Given the description of an element on the screen output the (x, y) to click on. 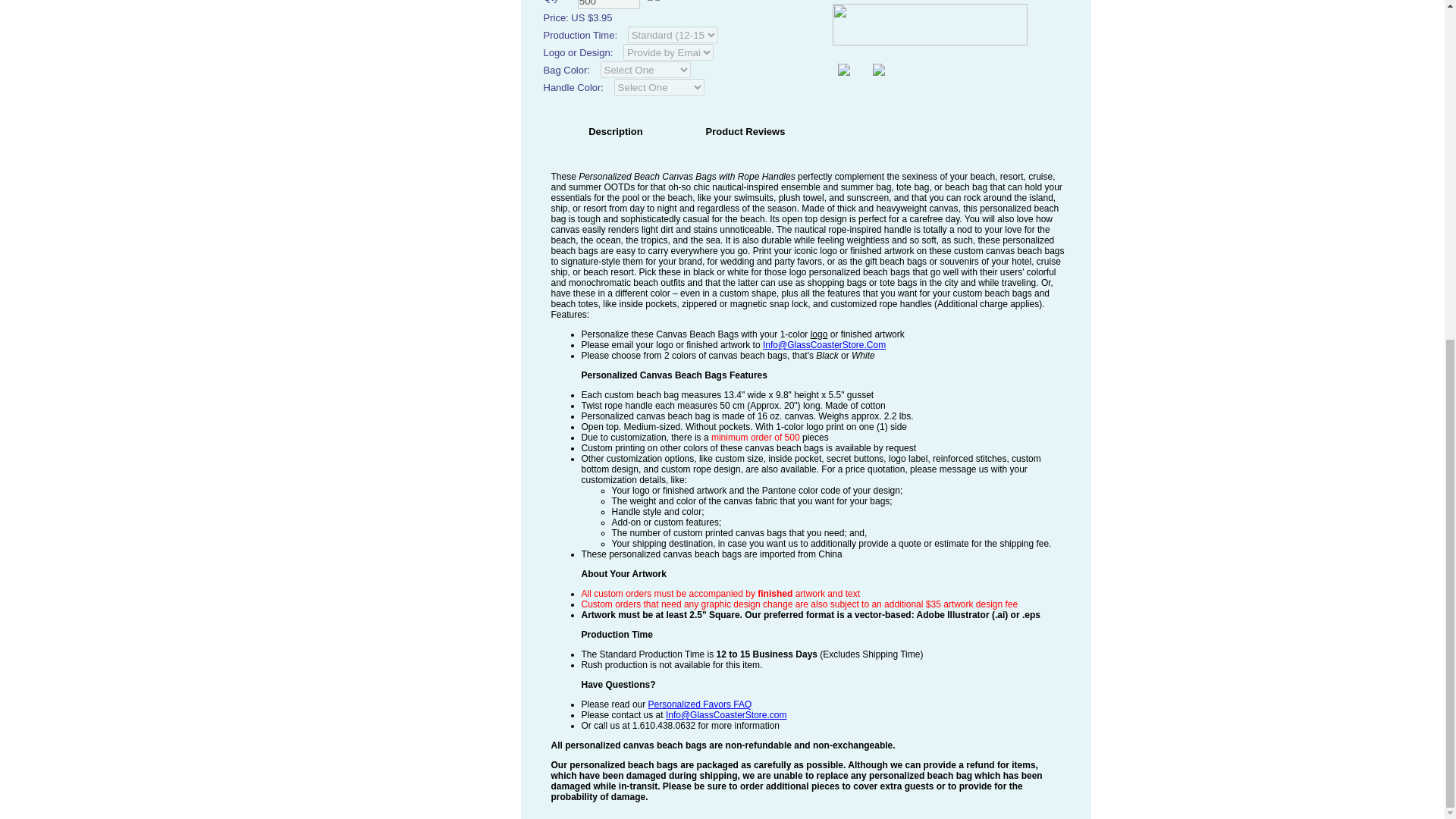
500 (609, 4)
